Given the description of an element on the screen output the (x, y) to click on. 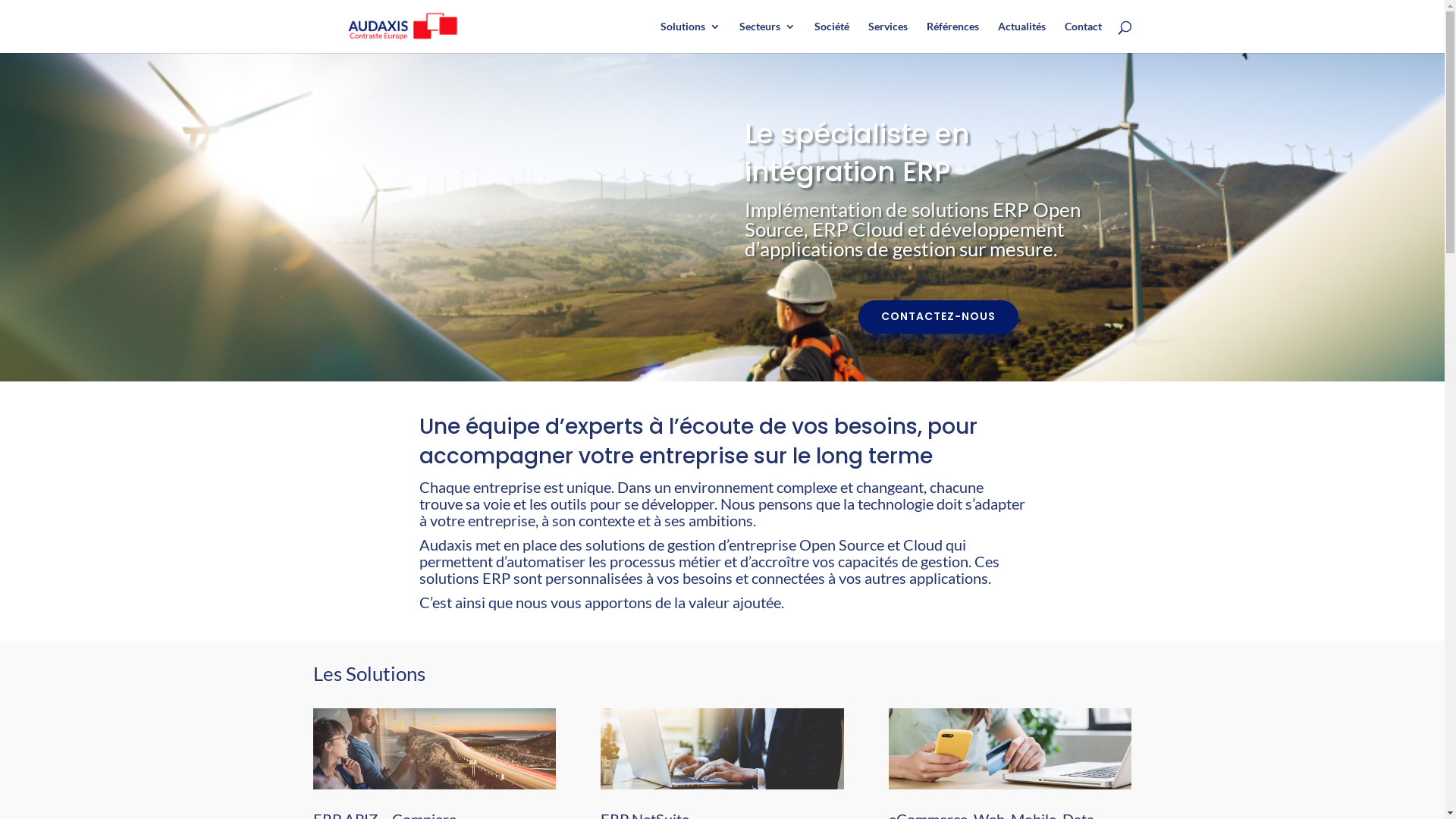
Contact Element type: text (1082, 37)
Services Element type: text (886, 37)
Solutions Element type: text (689, 37)
CONTACTEZ-NOUS Element type: text (938, 316)
Secteurs Element type: text (766, 37)
